Given the description of an element on the screen output the (x, y) to click on. 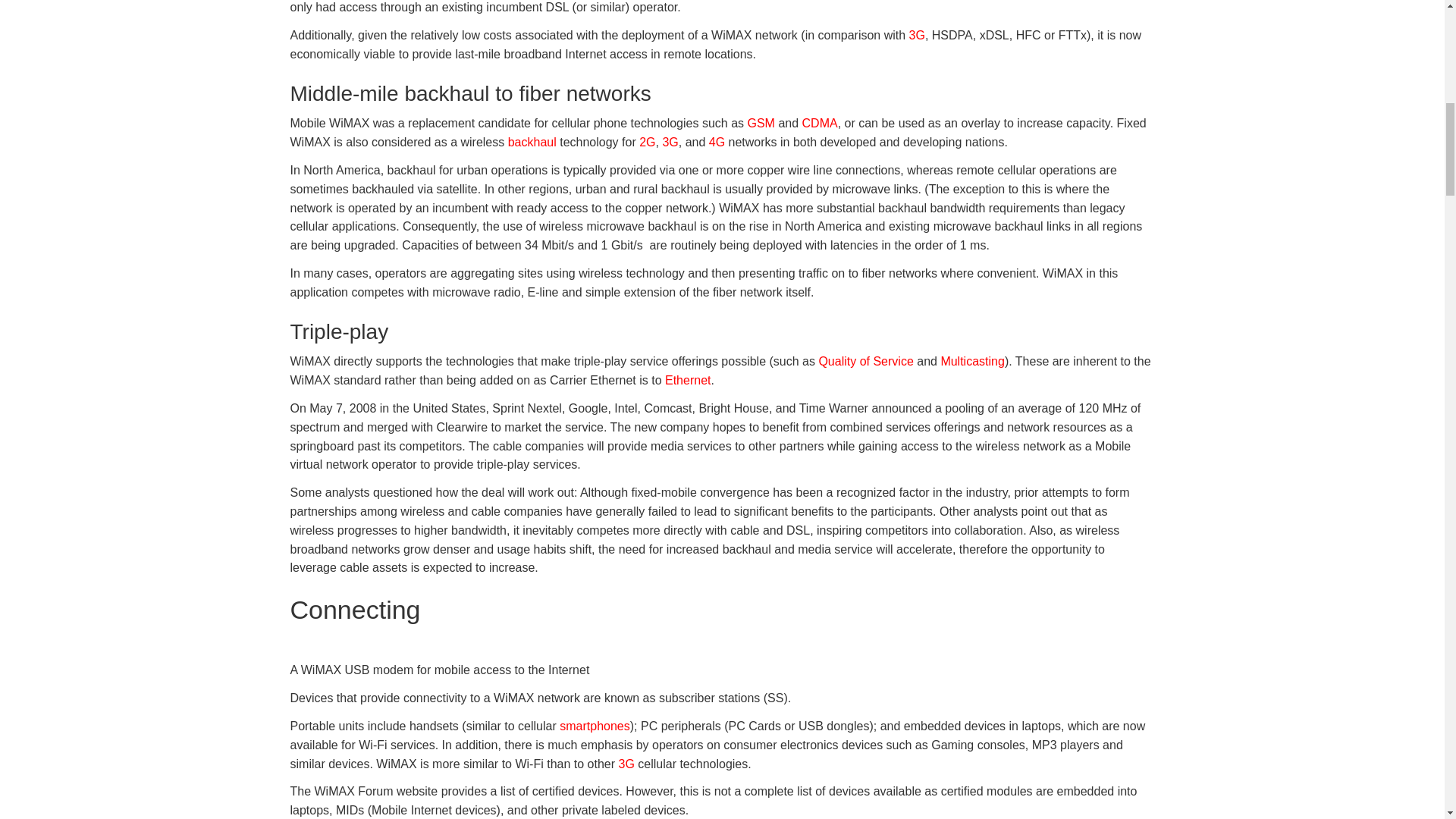
CDMA (820, 123)
Quality of Service (865, 360)
2G (647, 141)
3G (916, 34)
backhaul (532, 141)
3G (670, 141)
4G (717, 141)
GSM (760, 123)
